Given the description of an element on the screen output the (x, y) to click on. 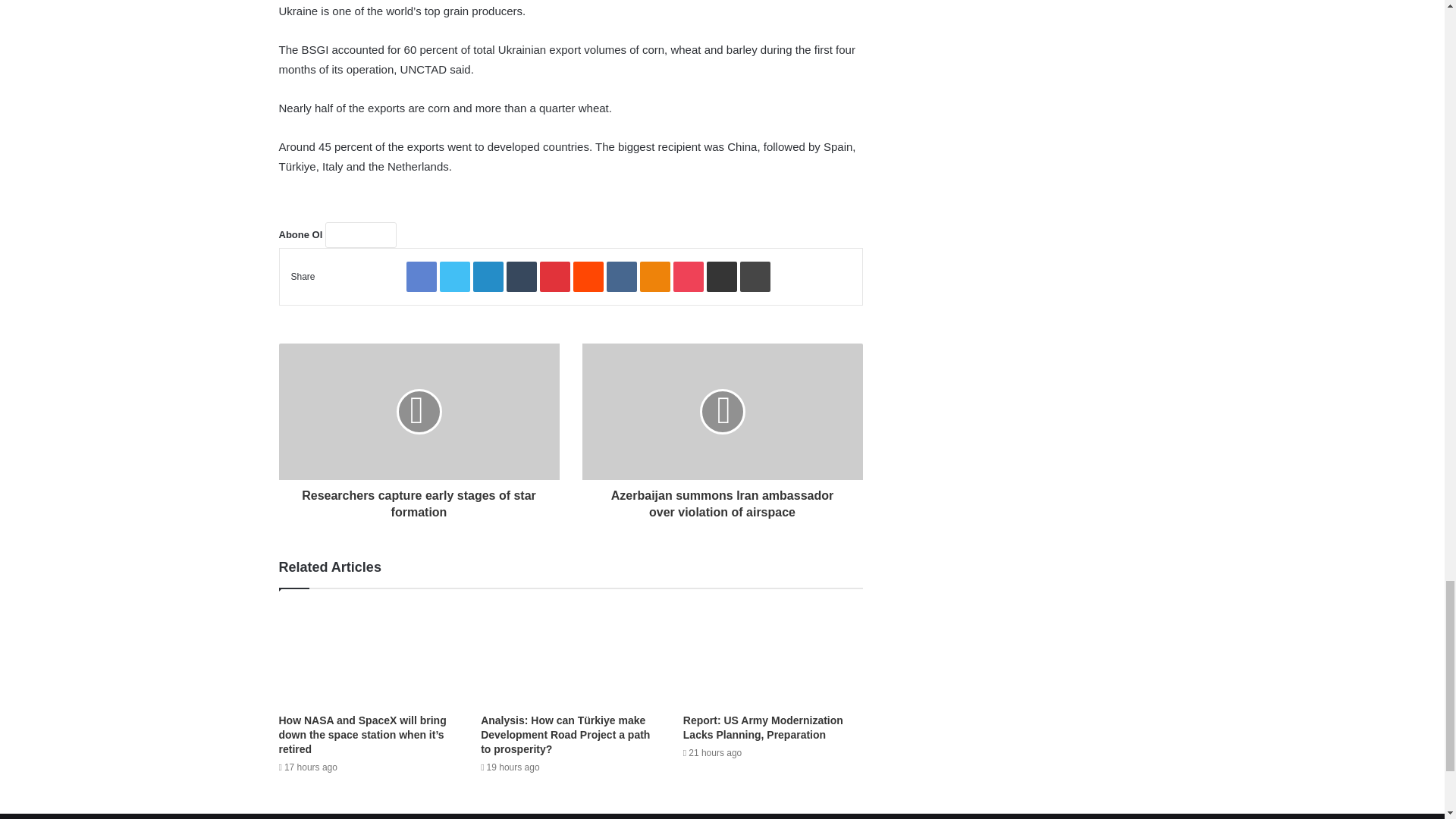
Abone Ol (360, 234)
